Given the description of an element on the screen output the (x, y) to click on. 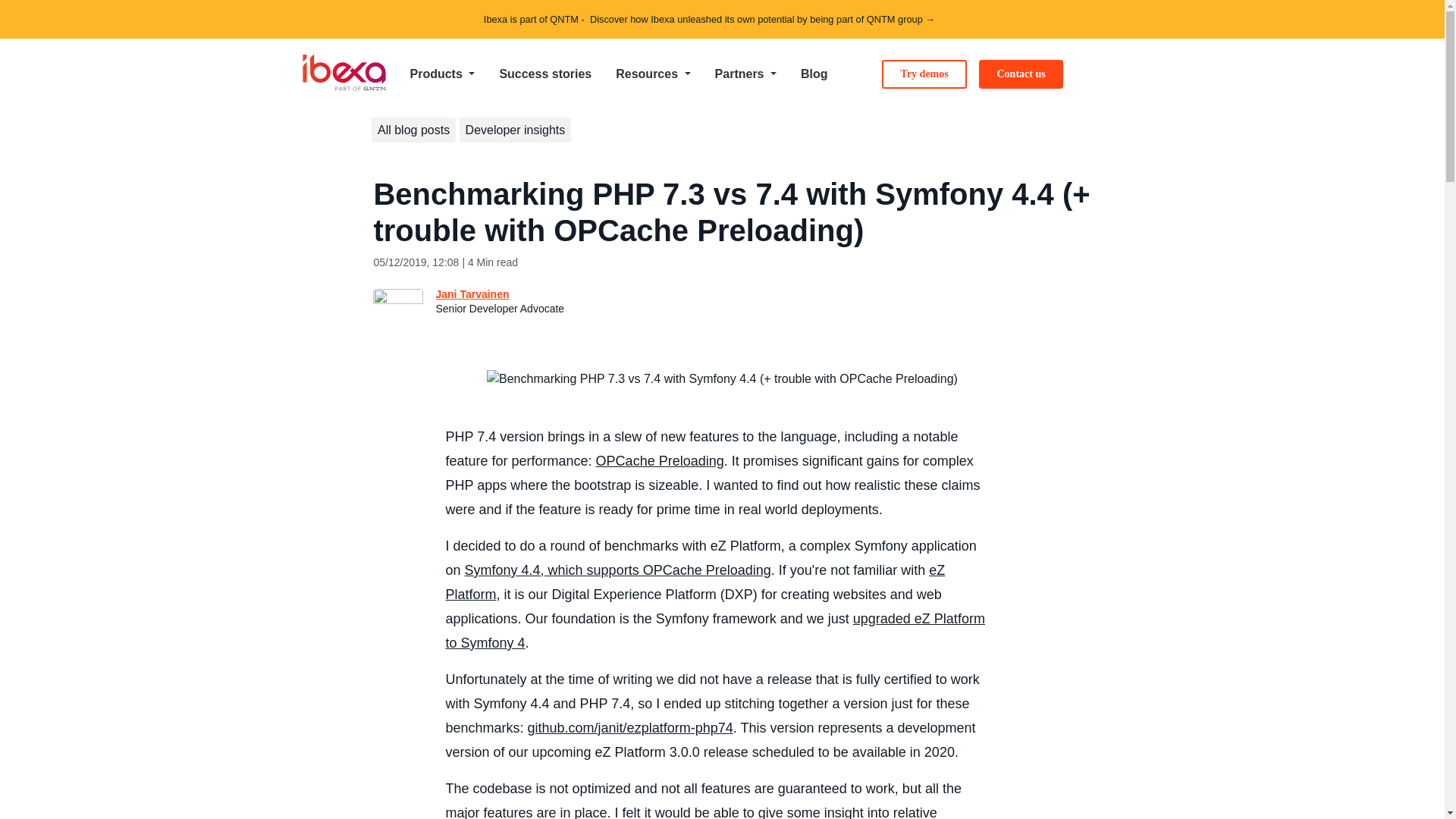
Resources (652, 74)
Contact us (1020, 73)
Partners (746, 74)
Products (441, 74)
Success stories (545, 74)
Try demos (924, 73)
Blog (814, 74)
